Given the description of an element on the screen output the (x, y) to click on. 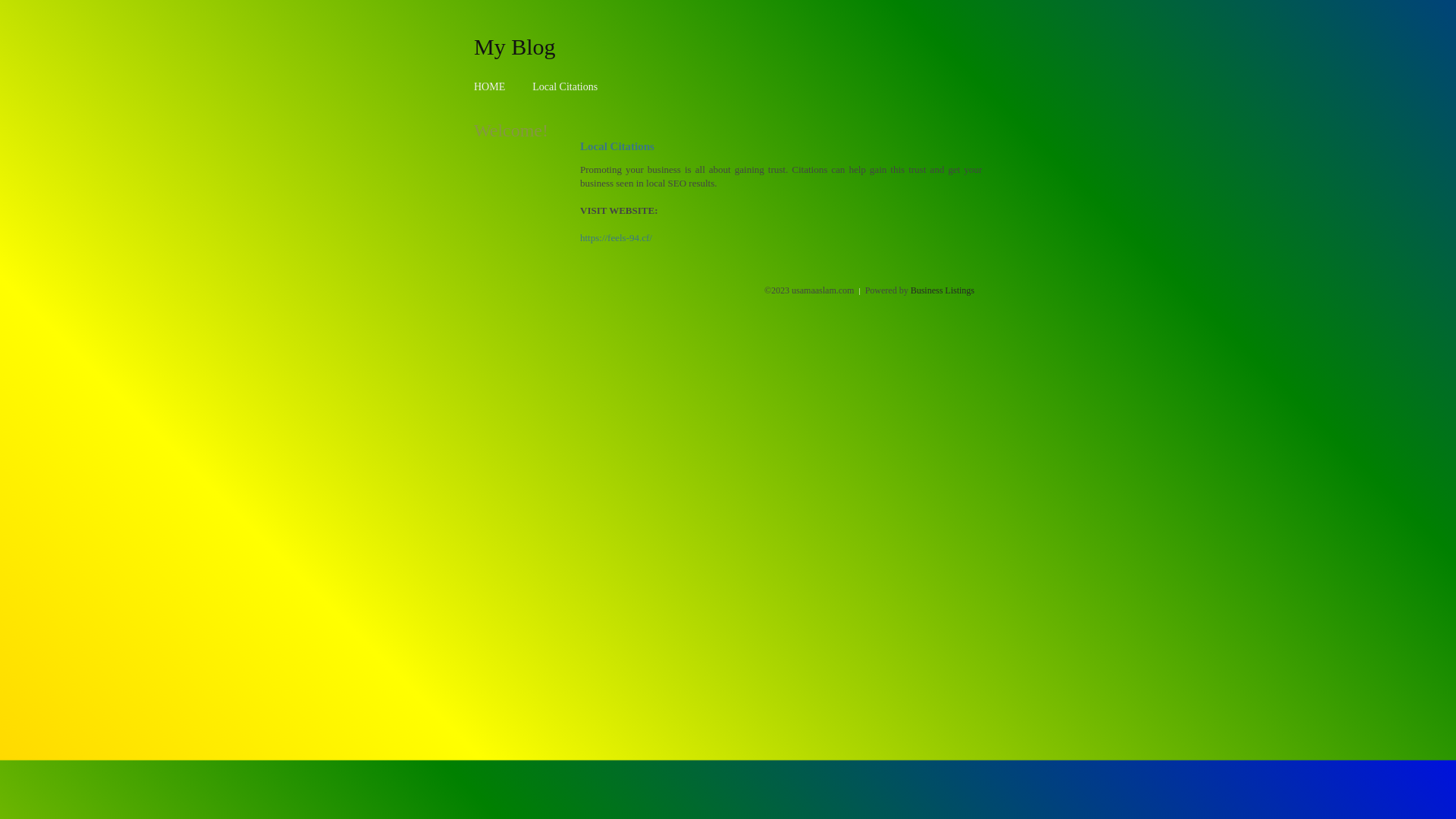
Business Listings Element type: text (942, 290)
HOME Element type: text (489, 86)
https://feels-94.cf/ Element type: text (616, 237)
Local Citations Element type: text (564, 86)
My Blog Element type: text (514, 46)
